Given the description of an element on the screen output the (x, y) to click on. 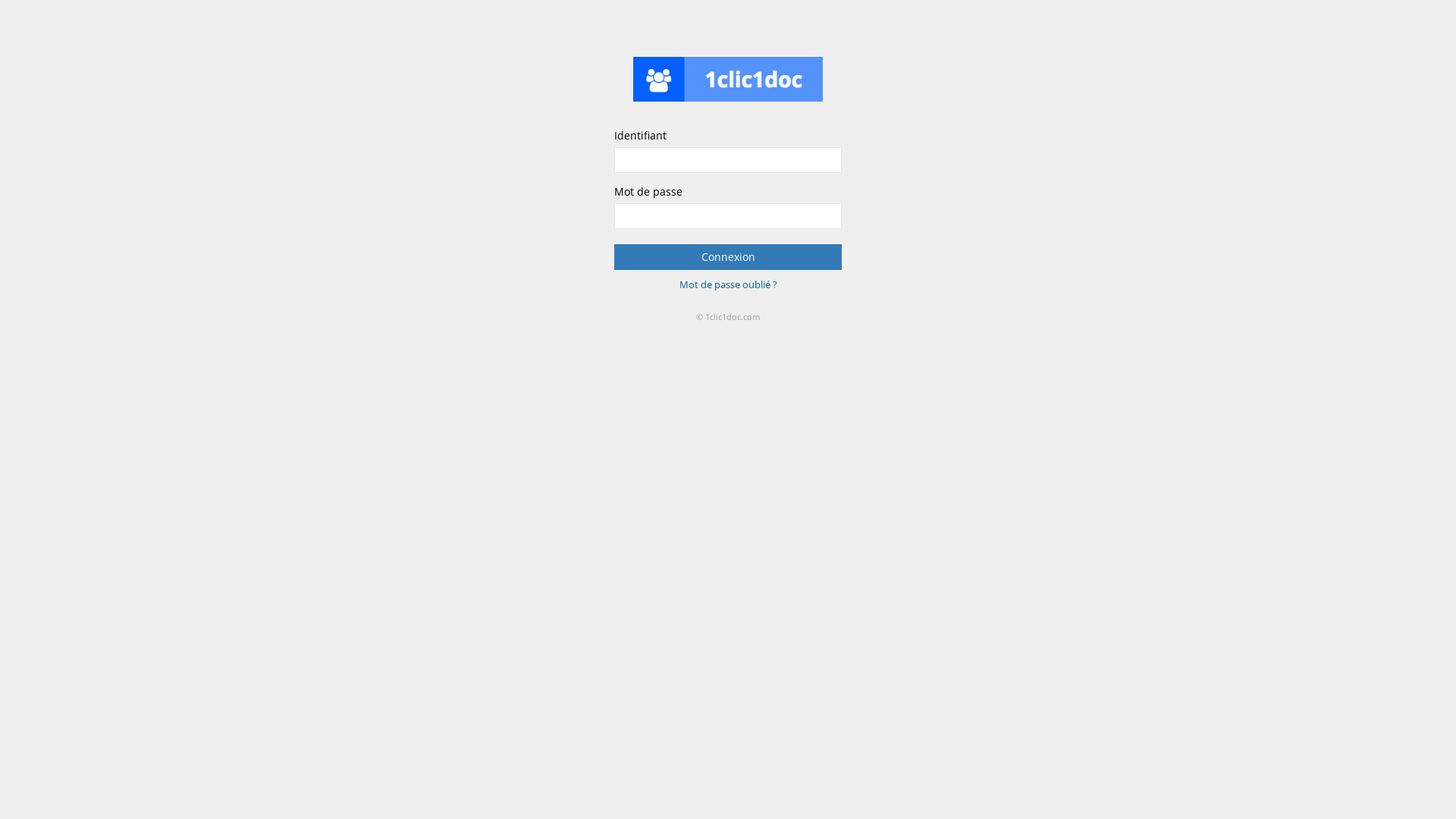
Connexion Element type: text (727, 256)
